Given the description of an element on the screen output the (x, y) to click on. 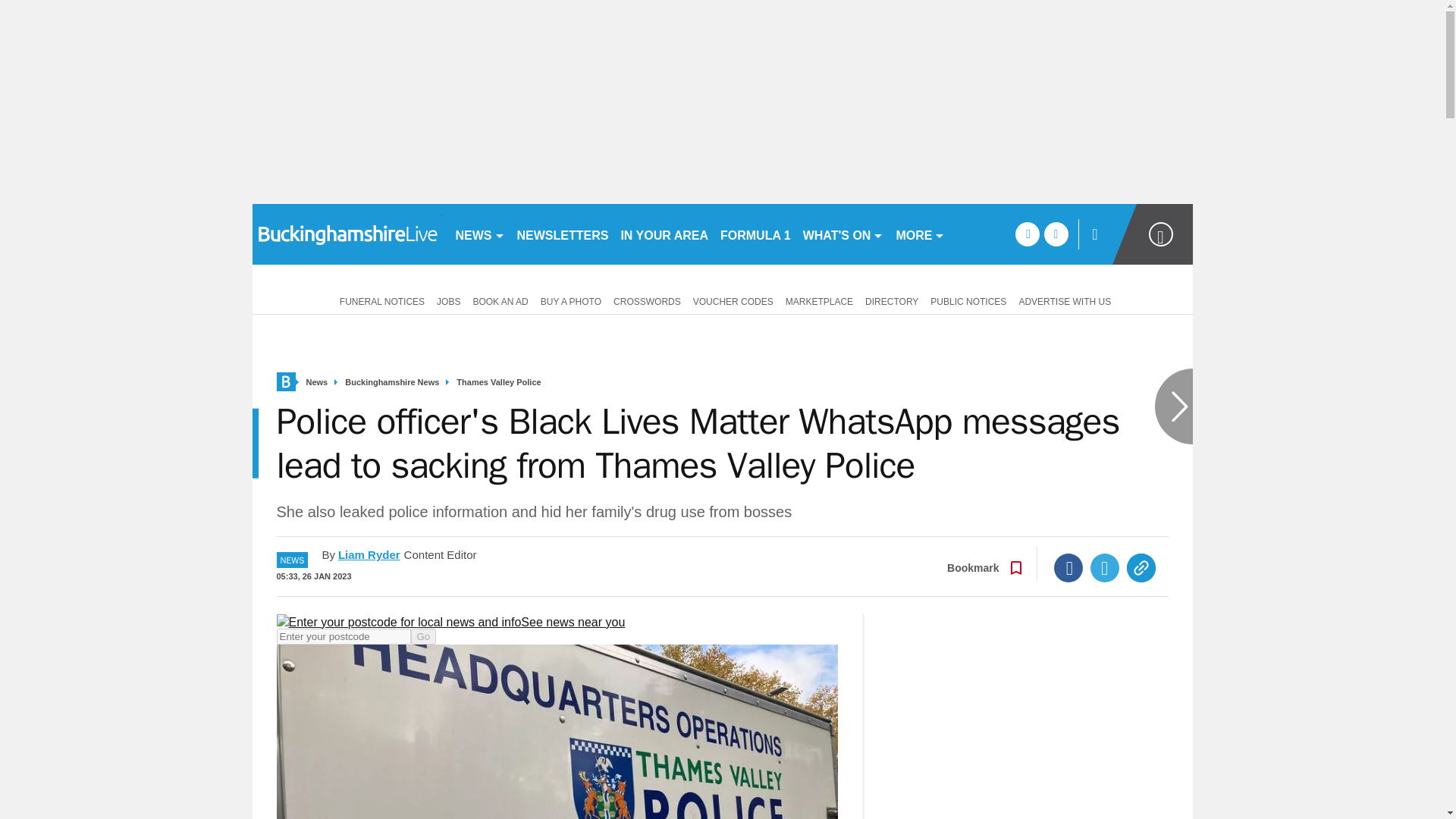
Buckinghamshire News (392, 382)
IN YOUR AREA (664, 233)
BOOK AN AD (499, 300)
PUBLIC NOTICES (967, 300)
twitter (1055, 233)
MARKETPLACE (818, 300)
facebook (1026, 233)
MORE (919, 233)
FORMULA 1 (755, 233)
Go (423, 636)
ADVERTISE WITH US (1063, 300)
NEWSLETTERS (562, 233)
Facebook (1068, 567)
BUY A PHOTO (570, 300)
Twitter (1104, 567)
